Given the description of an element on the screen output the (x, y) to click on. 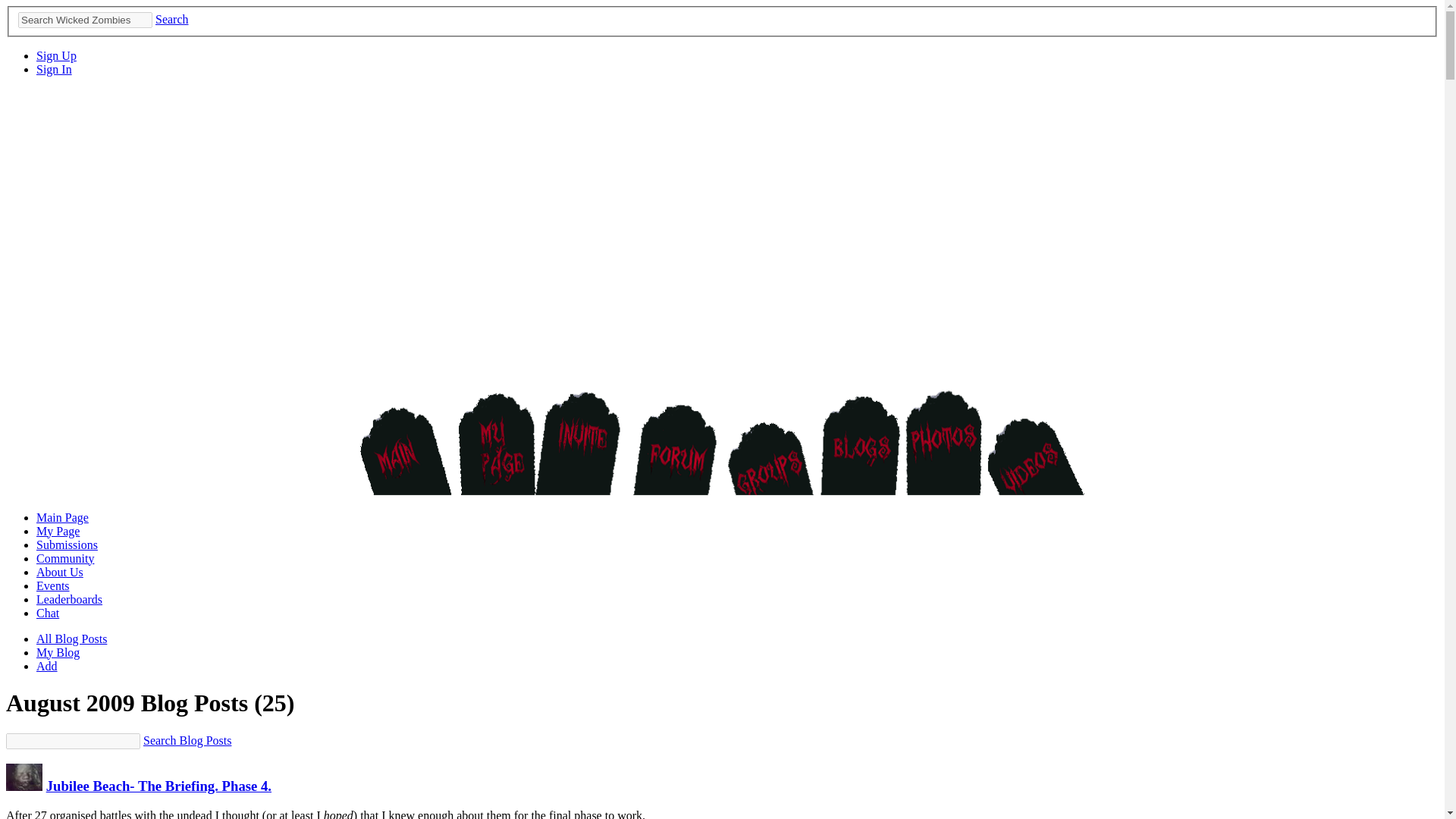
All Blog Posts (71, 638)
Search Blog Posts (186, 739)
Chat (47, 612)
Search Blog Posts (186, 739)
Bolo (23, 785)
Community (65, 558)
Sign In (53, 69)
About Us (59, 571)
Leaderboards (68, 599)
My Page (58, 530)
Jubilee Beach- The Briefing. Phase 4. (158, 785)
Search (172, 19)
Main Page (62, 517)
Sign Up (56, 55)
My Blog (58, 652)
